Given the description of an element on the screen output the (x, y) to click on. 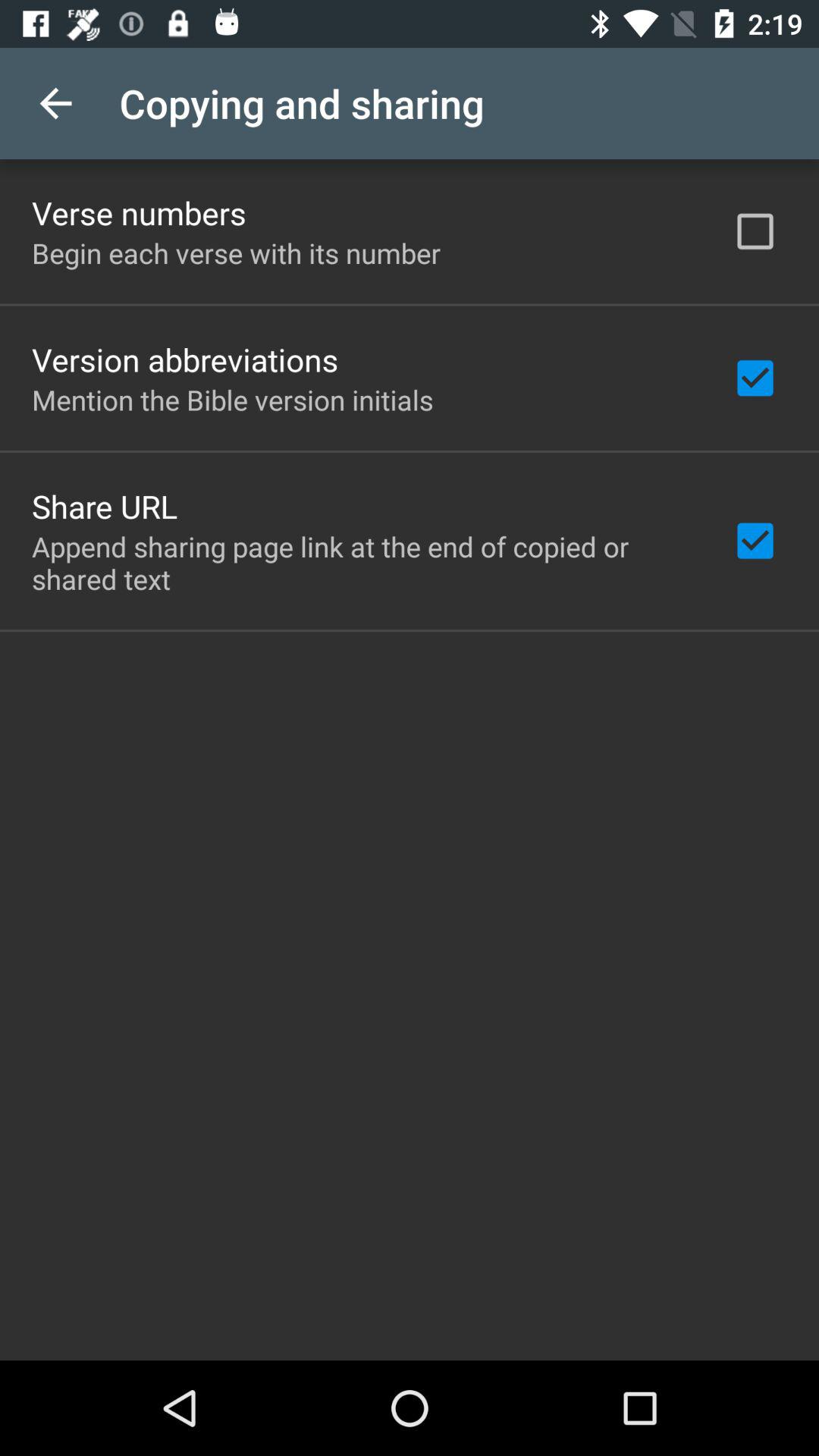
open item above begin each verse item (138, 212)
